Given the description of an element on the screen output the (x, y) to click on. 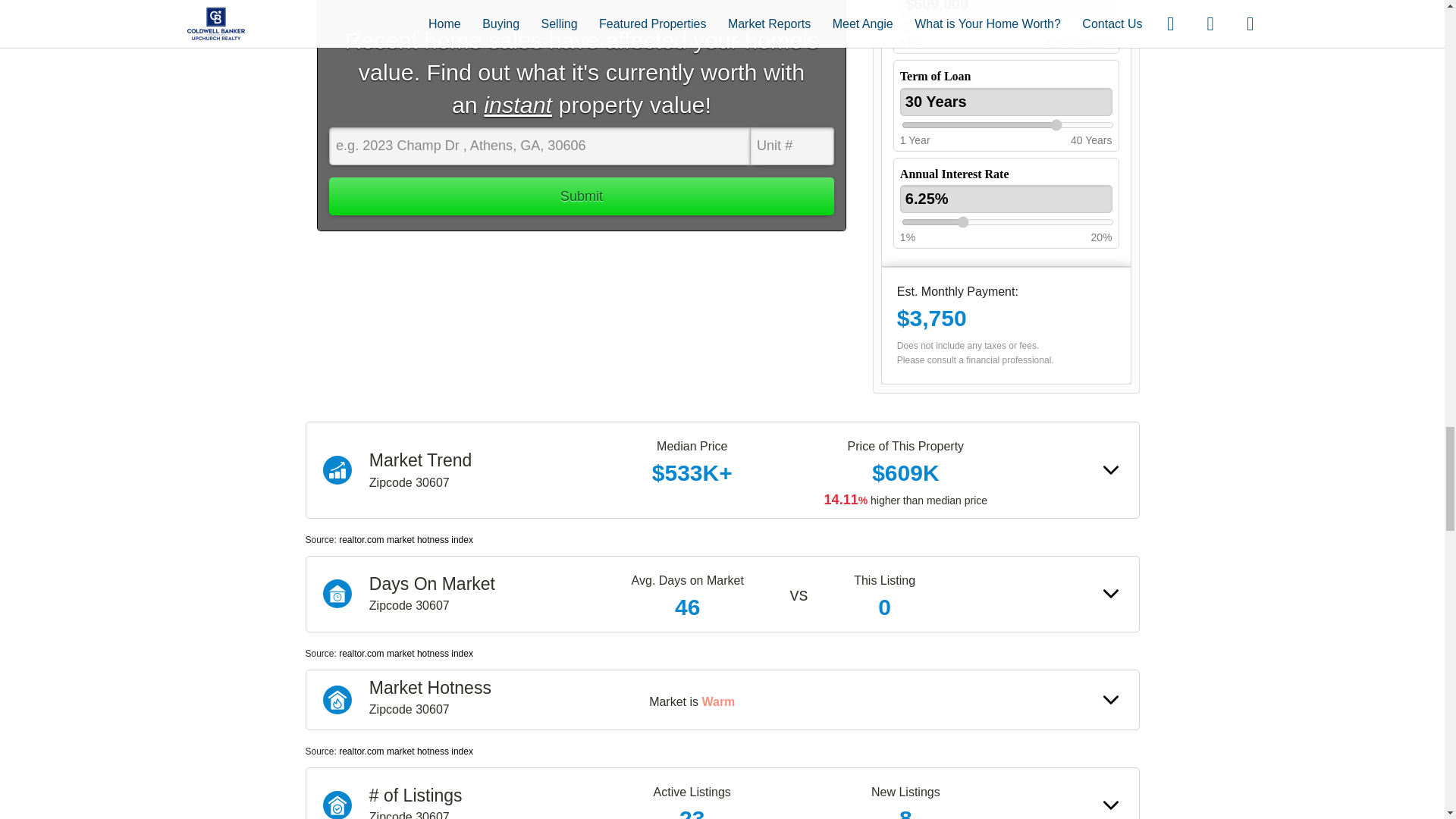
6.25 (1007, 222)
609000 (1007, 27)
30 Years (1005, 101)
30 (1007, 124)
